Given the description of an element on the screen output the (x, y) to click on. 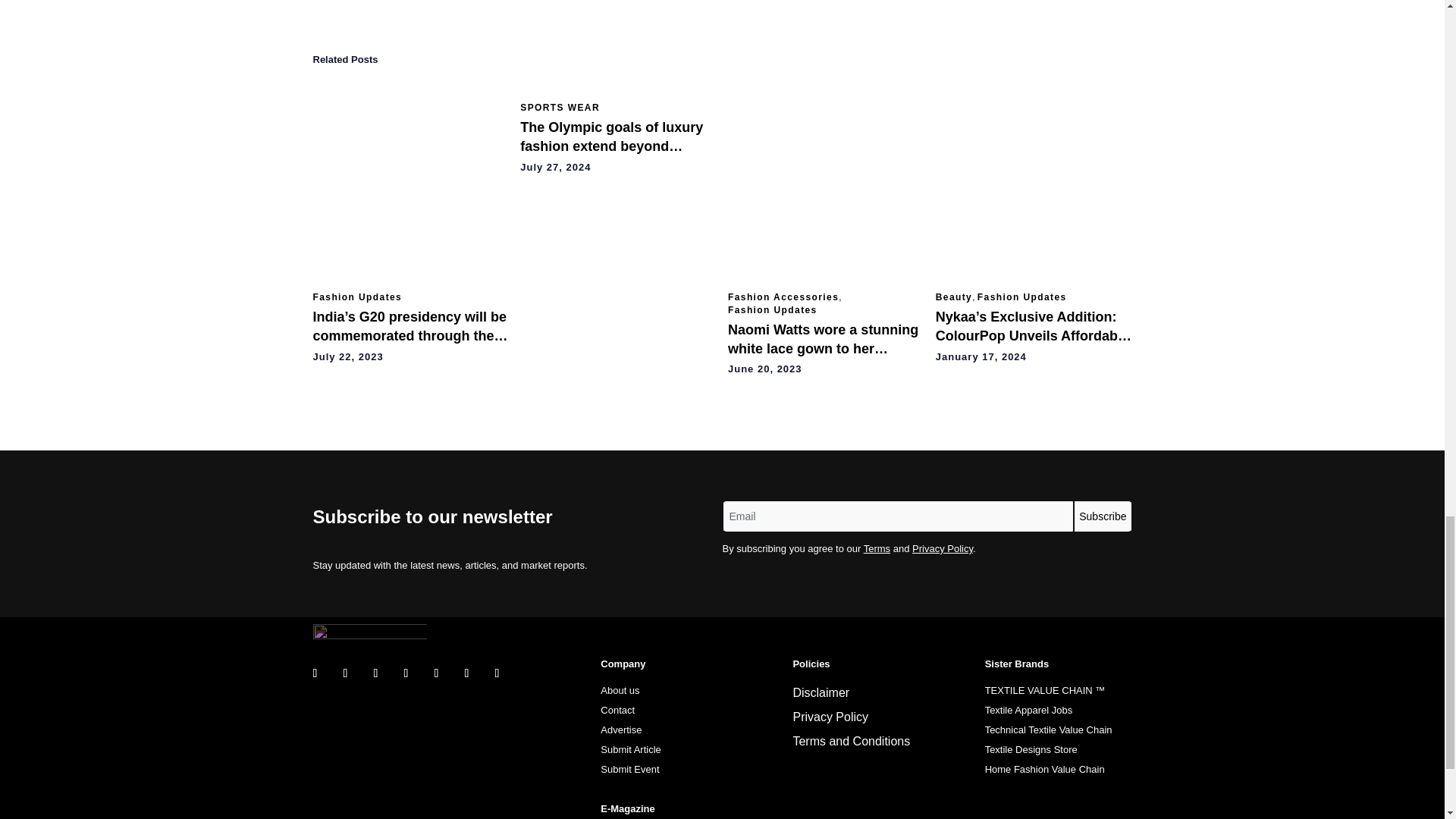
Fashion Accessories (783, 297)
Beauty (954, 297)
SPORTS WEAR (559, 107)
Fashion Updates (357, 297)
Fashion Updates (772, 309)
Subscribe (1102, 516)
